Given the description of an element on the screen output the (x, y) to click on. 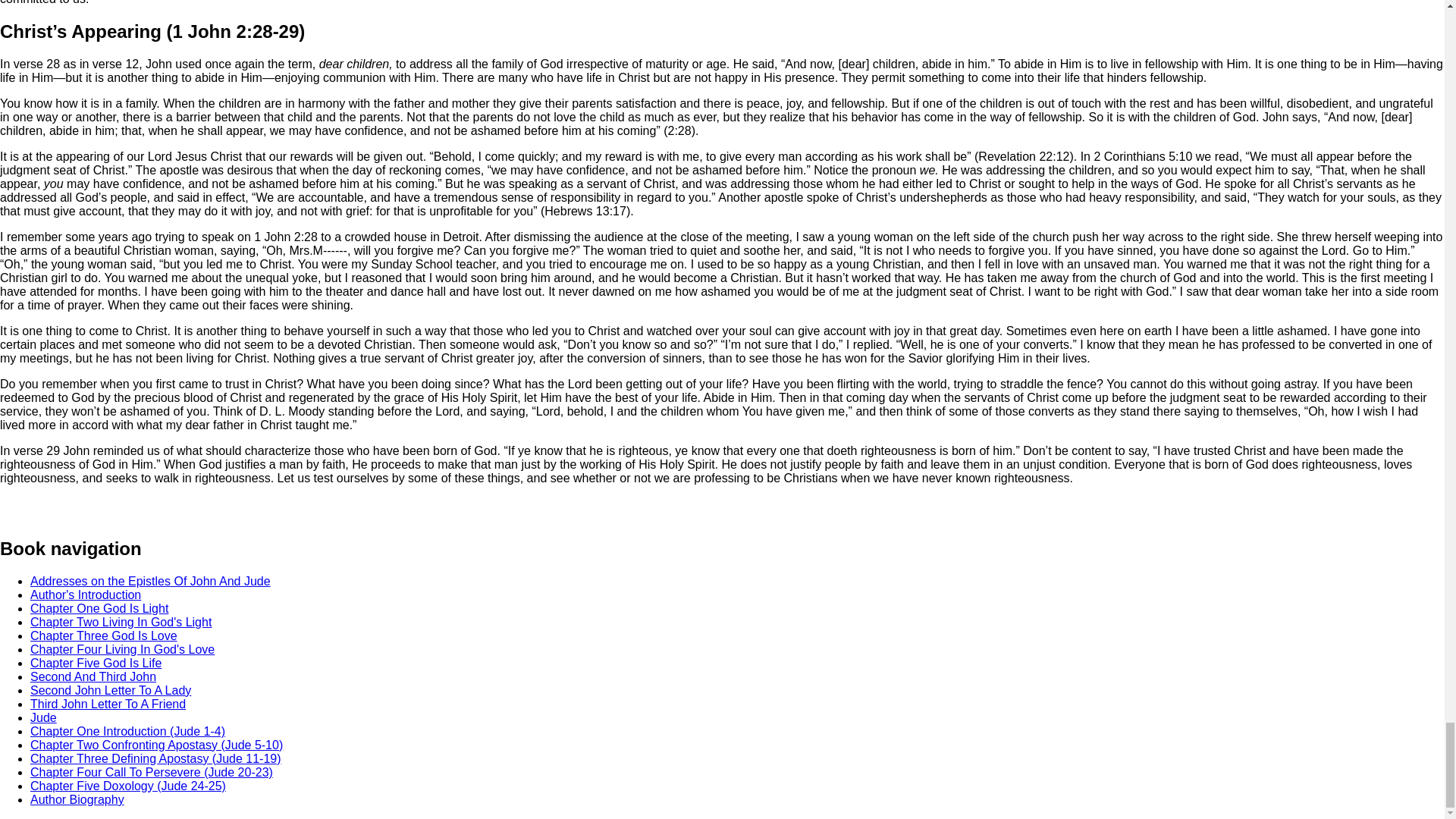
Author Biography (76, 799)
Chapter Two Living In God's Light (120, 621)
Chapter Three God Is Love (103, 635)
Chapter One God Is Light (99, 608)
Third John Letter To A Friend (108, 703)
Second And Third John (92, 676)
Chapter Four Living In God's Love (122, 649)
Second John Letter To A Lady (110, 689)
Chapter Five God Is Life (95, 662)
Addresses on the Epistles Of John And Jude (150, 581)
